Given the description of an element on the screen output the (x, y) to click on. 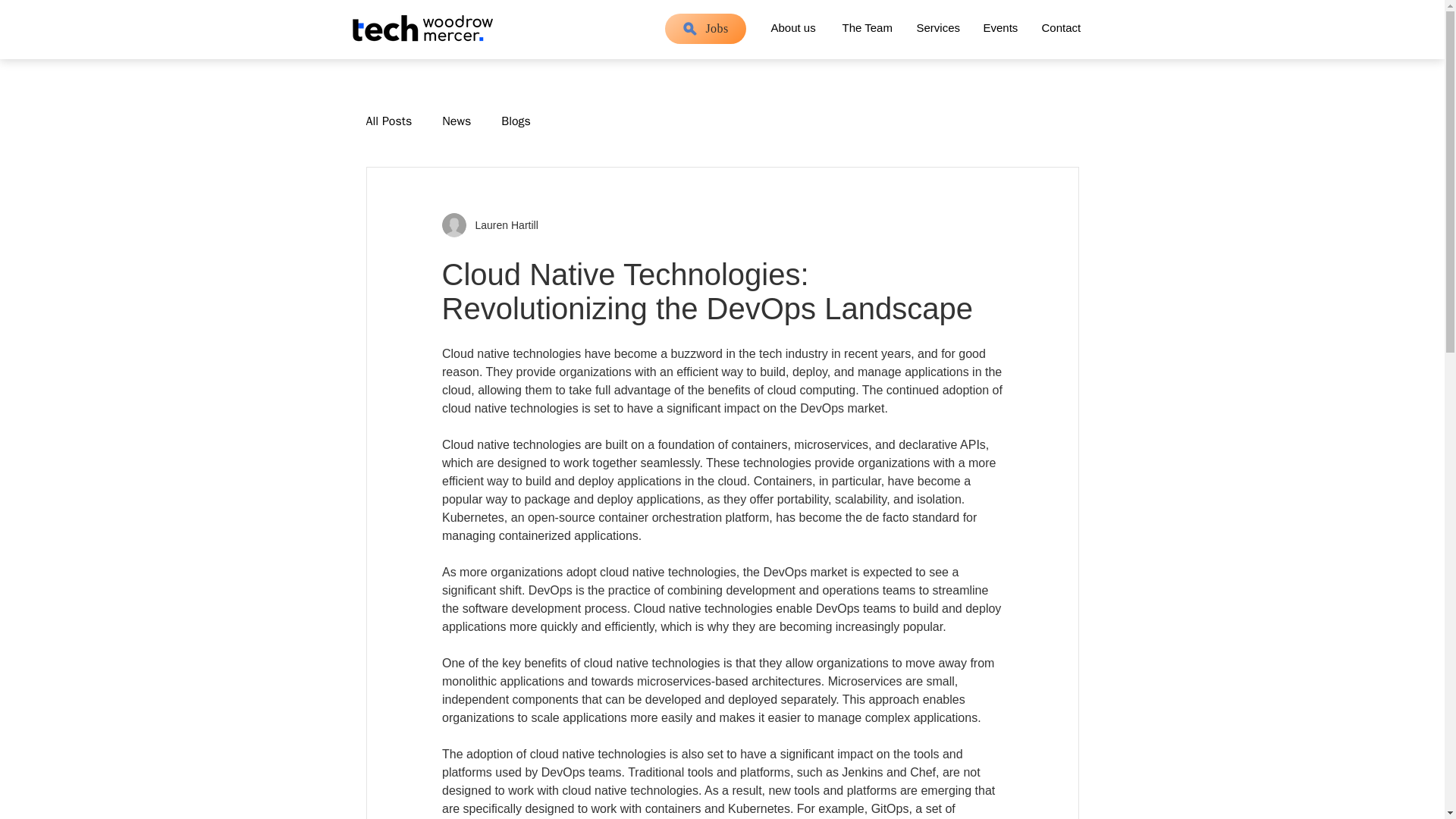
About us (793, 20)
Blogs (515, 121)
Events (1000, 20)
News (456, 121)
Lauren Hartill (501, 224)
Jobs (704, 28)
The Team (866, 20)
All Posts (388, 121)
Lauren Hartill (489, 224)
Contact (1061, 20)
